Given the description of an element on the screen output the (x, y) to click on. 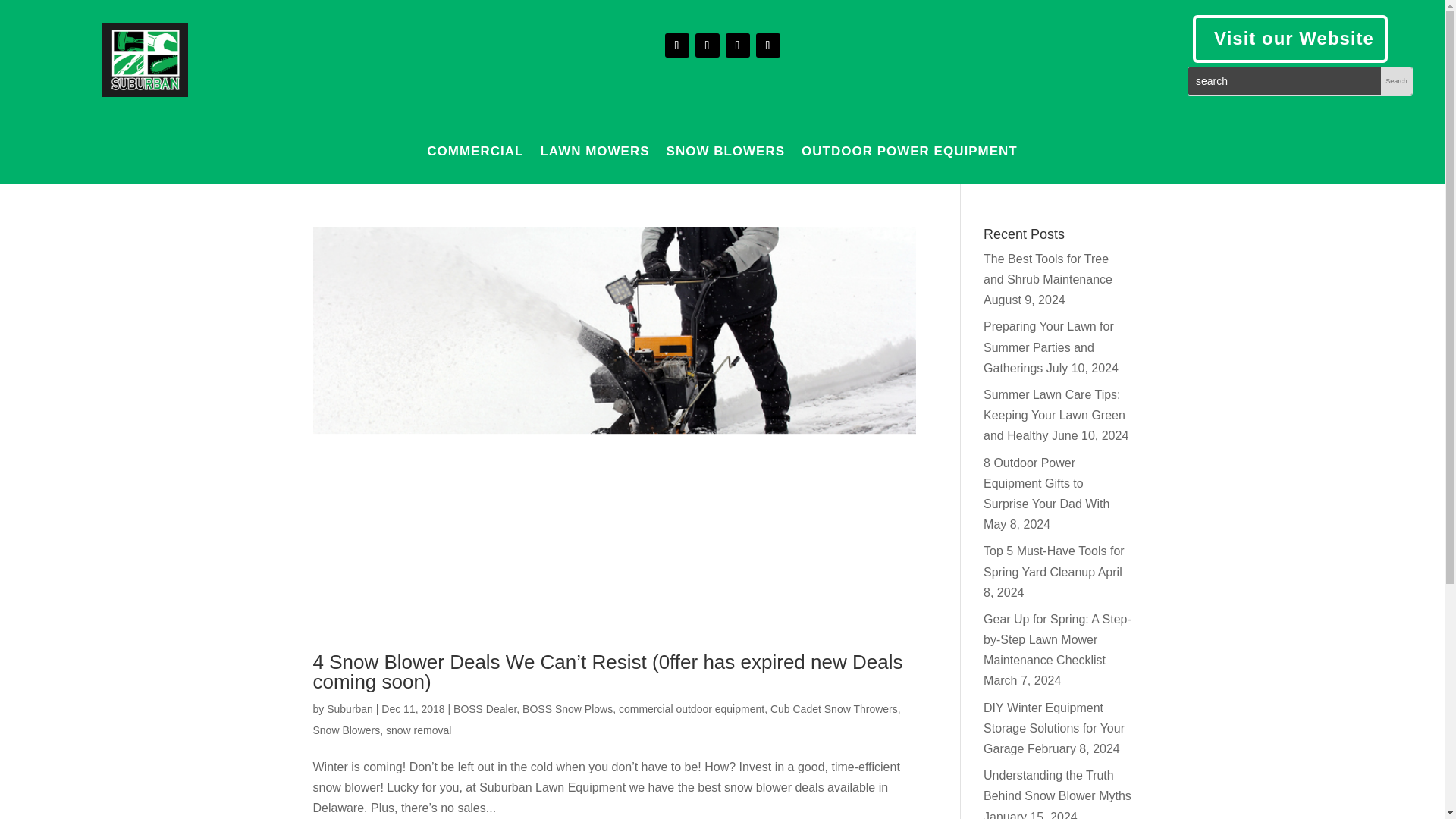
BOSS Snow Plows (567, 708)
Suburban Lawn Equipment Delaware (144, 59)
Follow on Facebook (675, 45)
Search (1396, 81)
8 Outdoor Power Equipment Gifts to Surprise Your Dad With (1046, 483)
DIY Winter Equipment Storage Solutions for Your Garage (1054, 728)
Snow Blowers (346, 729)
Understanding the Truth Behind Snow Blower Myths (1057, 785)
Posts by Suburban (349, 708)
commercial outdoor equipment (691, 708)
